Given the description of an element on the screen output the (x, y) to click on. 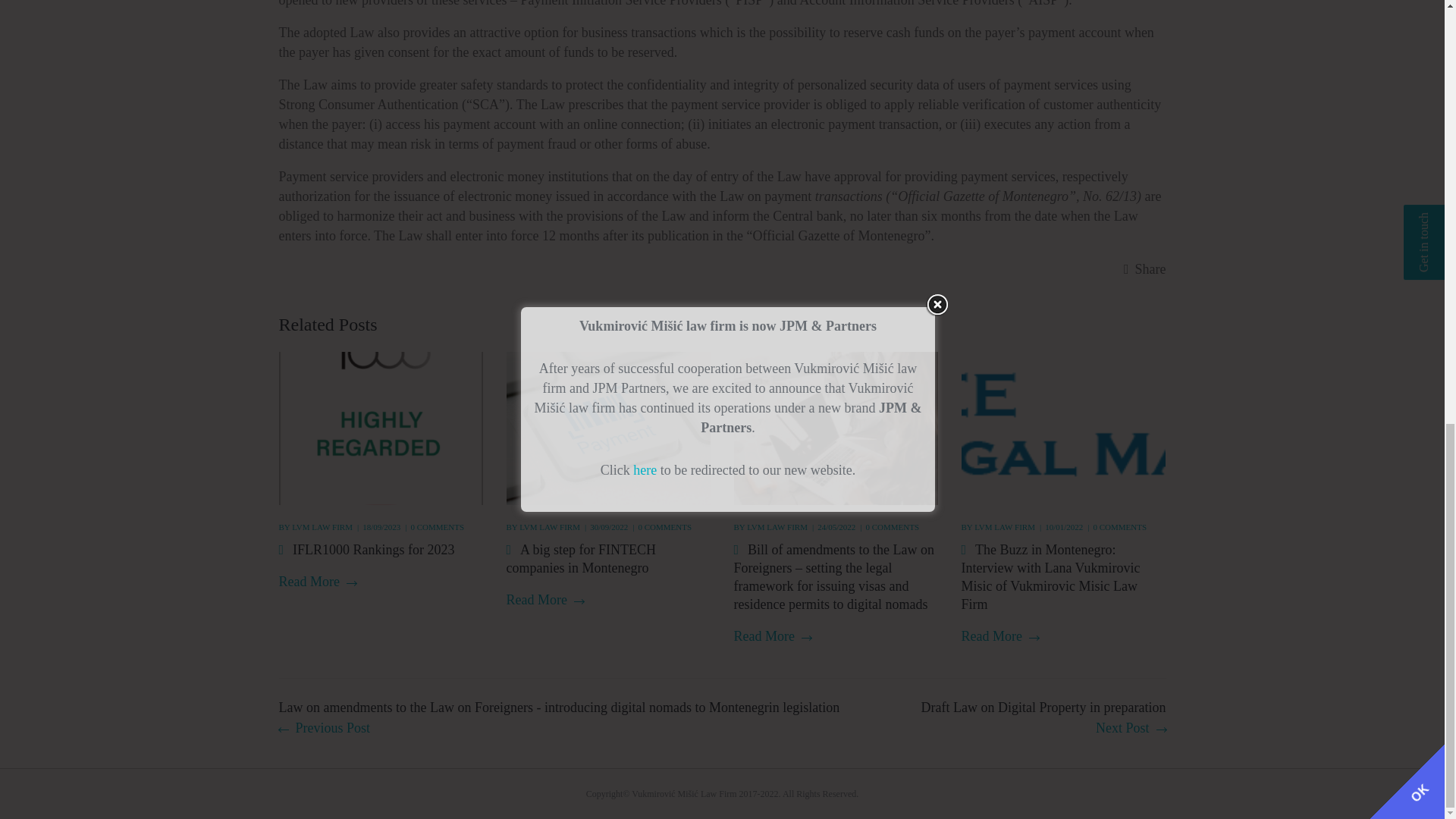
Read More (317, 581)
Draft Law on Digital Property in preparation (1043, 717)
IFLR1000 Rankings for 2023   (376, 549)
LVM LAW FIRM (322, 526)
Share (1145, 269)
0 COMMENTS (437, 526)
